Given the description of an element on the screen output the (x, y) to click on. 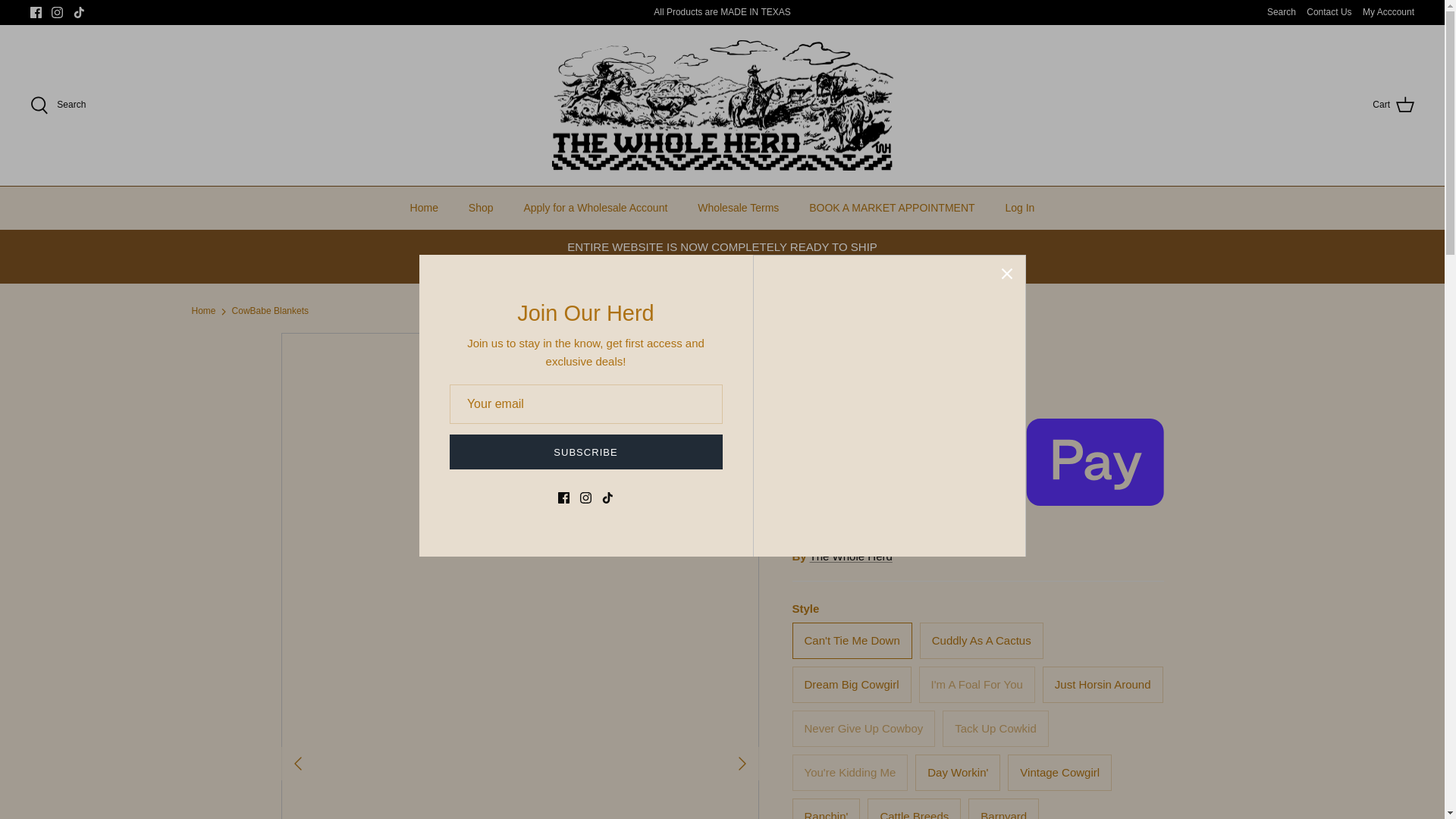
Home (423, 208)
LEFT (296, 763)
Instagram (56, 12)
Contact Us (1328, 12)
Cart (1393, 105)
Apply for a Wholesale Account (595, 208)
Shop (480, 208)
My Acccount (1387, 12)
Search (57, 105)
The Whole Herd (722, 105)
RIGHT (741, 763)
Facebook (36, 12)
Instagram (56, 12)
Facebook (36, 12)
Search (1280, 12)
